Given the description of an element on the screen output the (x, y) to click on. 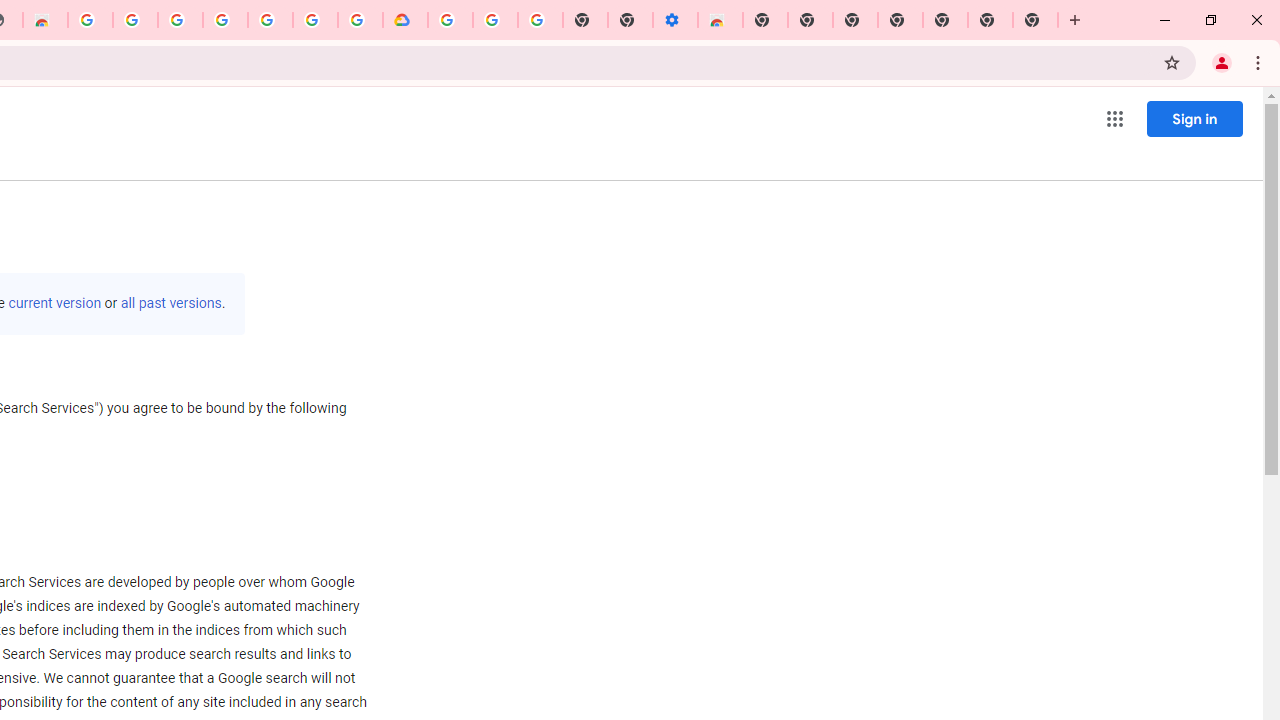
Chrome Web Store - Household (45, 20)
Sign in - Google Accounts (180, 20)
New Tab (765, 20)
Sign in - Google Accounts (315, 20)
all past versions (170, 303)
Sign in - Google Accounts (450, 20)
current version (54, 303)
Ad Settings (134, 20)
New Tab (1035, 20)
